Given the description of an element on the screen output the (x, y) to click on. 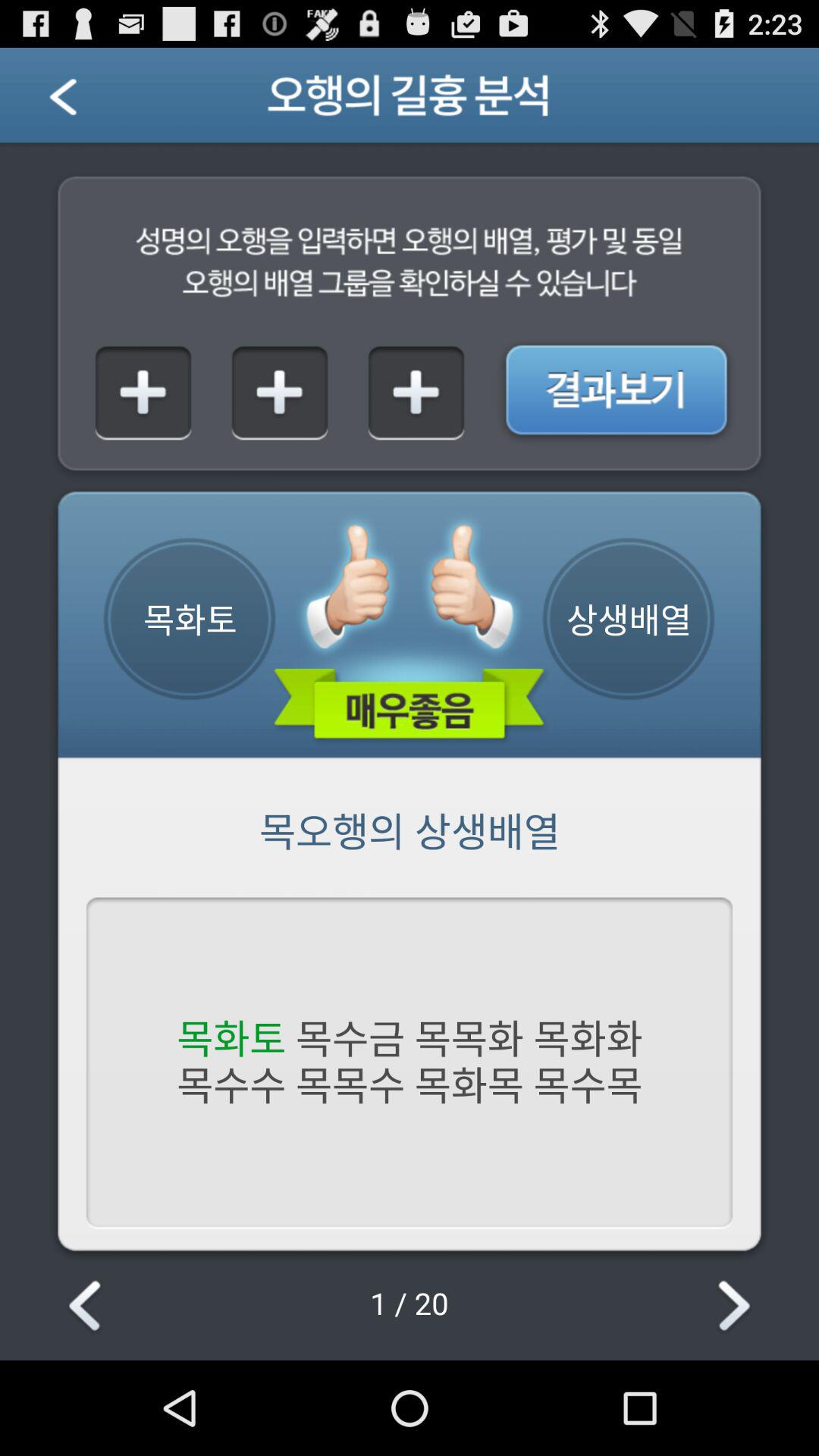
go to previous (81, 101)
